Given the description of an element on the screen output the (x, y) to click on. 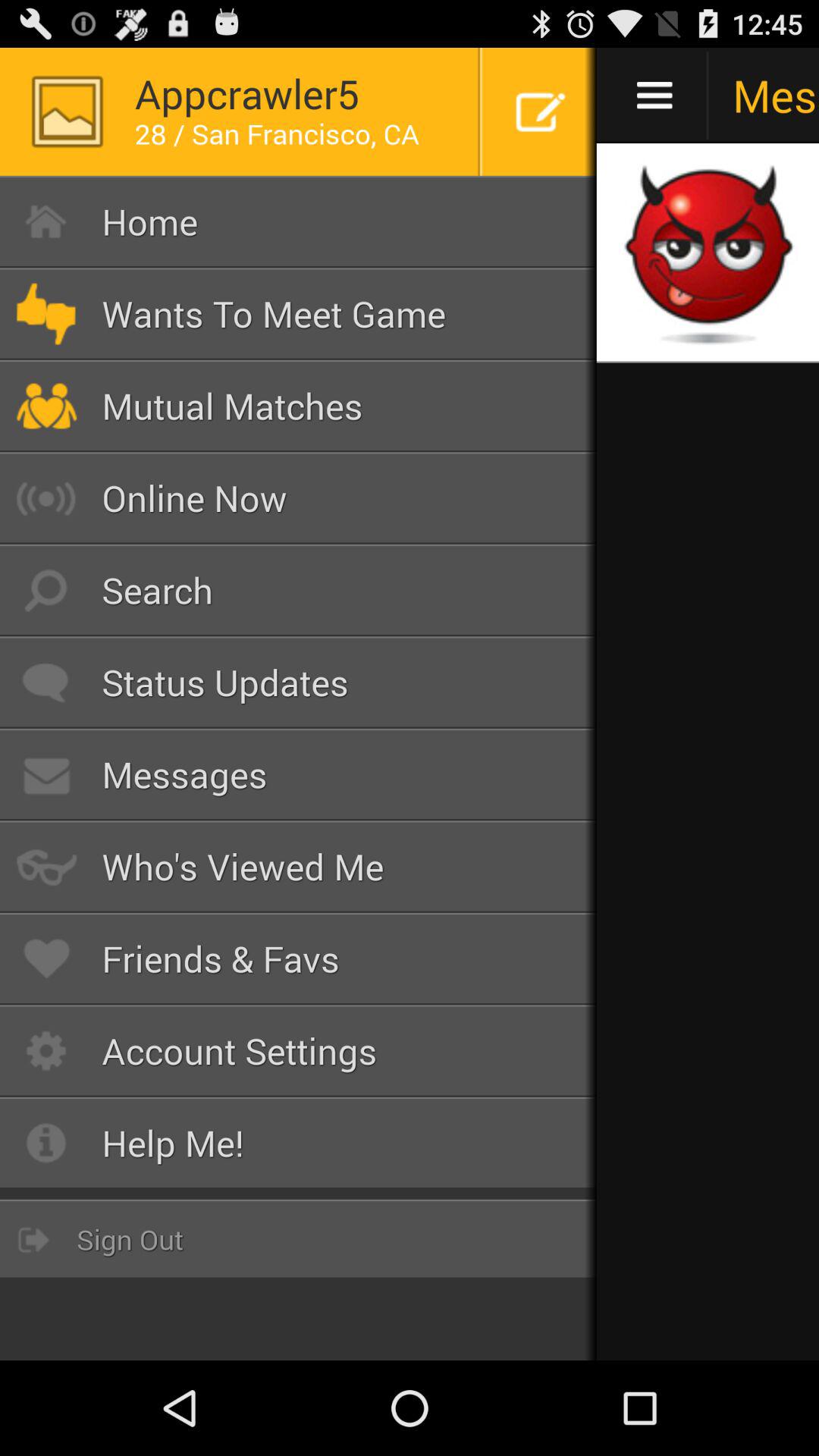
tap the friends & favs (298, 958)
